Given the description of an element on the screen output the (x, y) to click on. 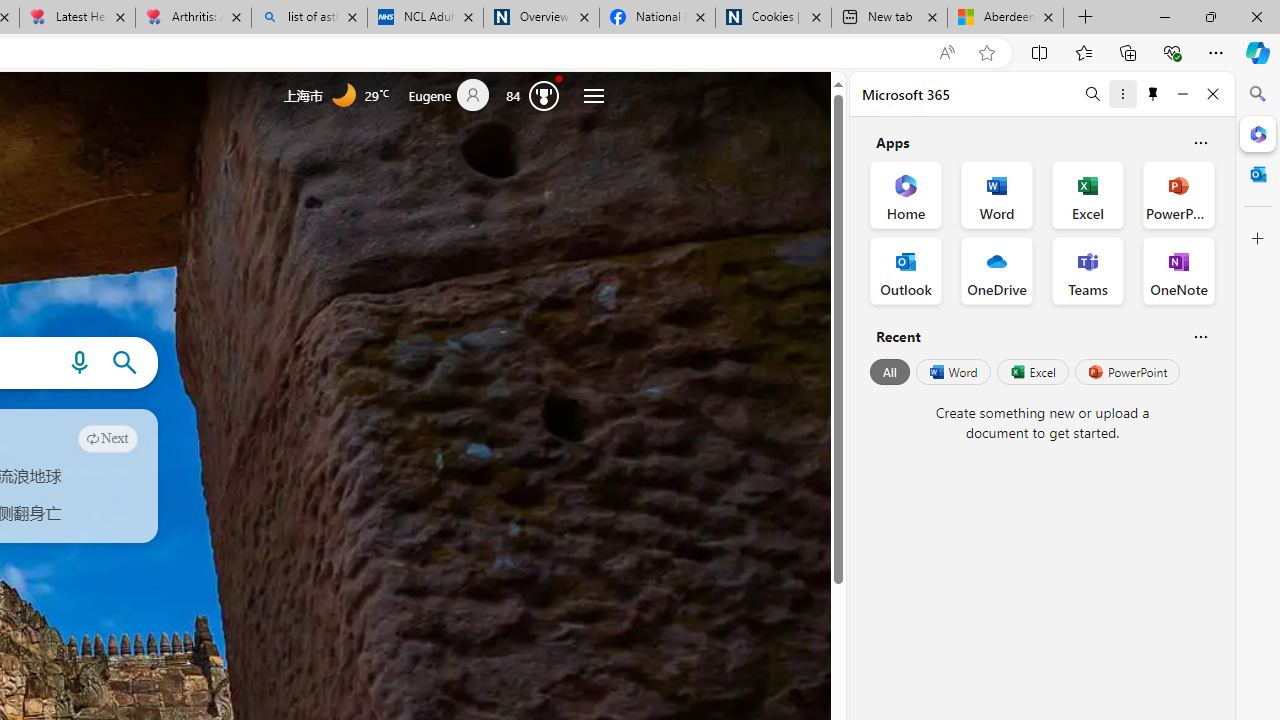
Teams Office App (1087, 270)
Cookies | About | NICE (772, 17)
Next (108, 438)
All (890, 372)
Word Office App (996, 194)
Microsoft Rewards 84 (537, 94)
PowerPoint (1127, 372)
AutomationID: rh_meter (543, 94)
